Given the description of an element on the screen output the (x, y) to click on. 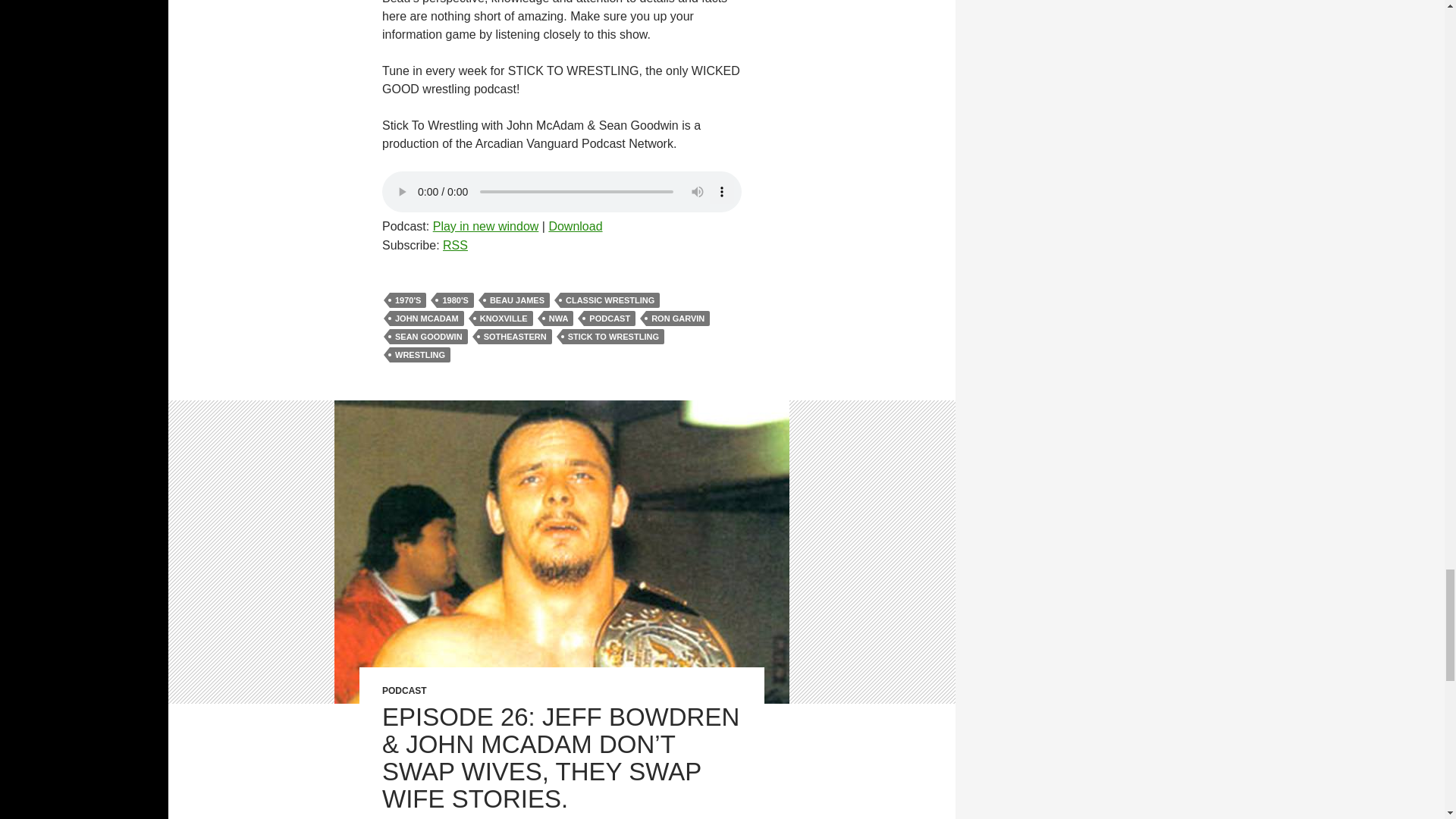
Download (575, 226)
Play in new window (485, 226)
Subscribe via RSS (454, 245)
